Given the description of an element on the screen output the (x, y) to click on. 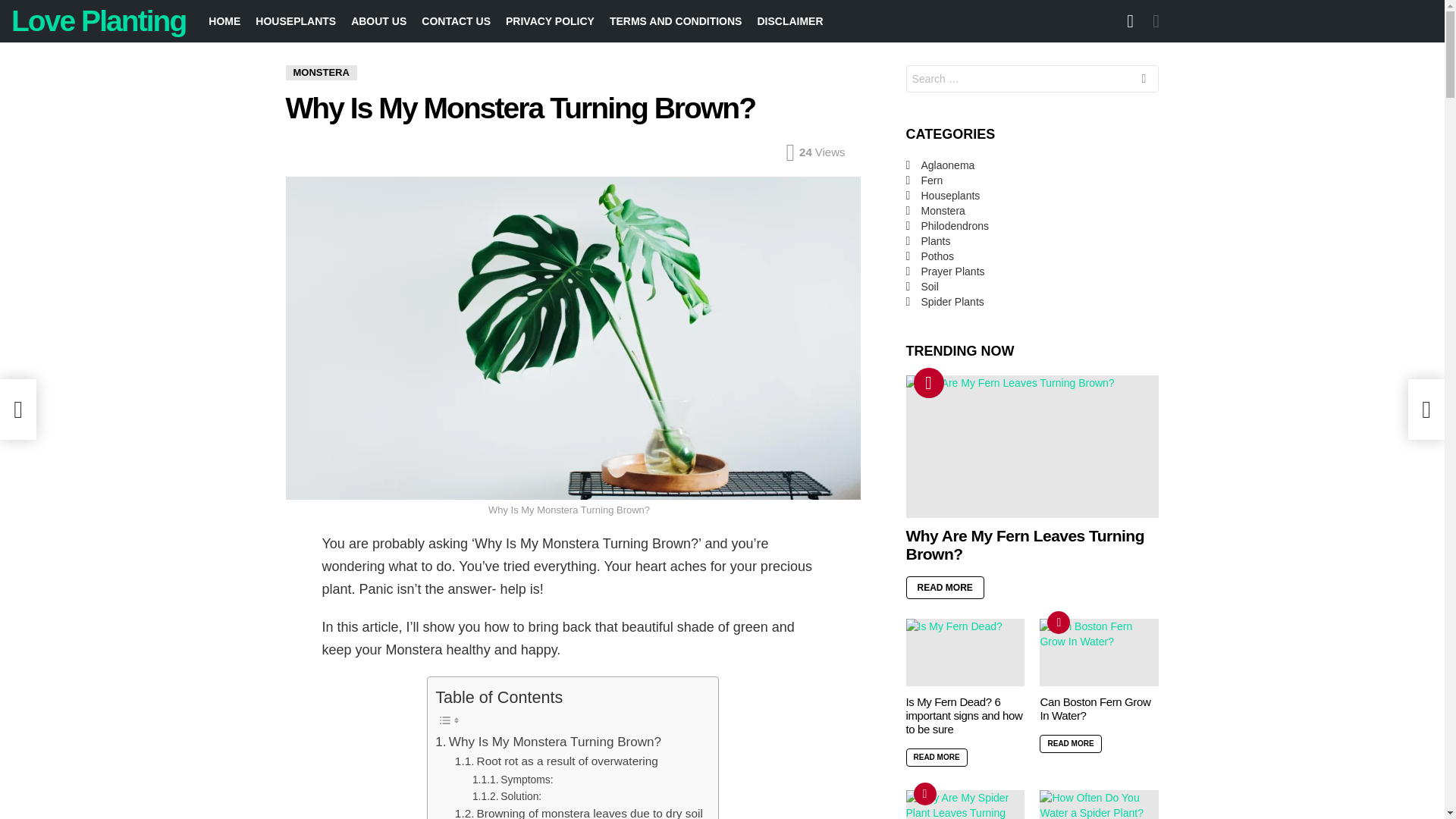
DISCLAIMER (789, 20)
Solution: (506, 795)
CONTACT US (455, 20)
MONSTERA (320, 72)
Love Planting (98, 20)
Root rot as a result of overwatering (556, 761)
Browning of monstera leaves due to dry soil (578, 811)
Root rot as a result of overwatering (556, 761)
HOUSEPLANTS (295, 20)
